Given the description of an element on the screen output the (x, y) to click on. 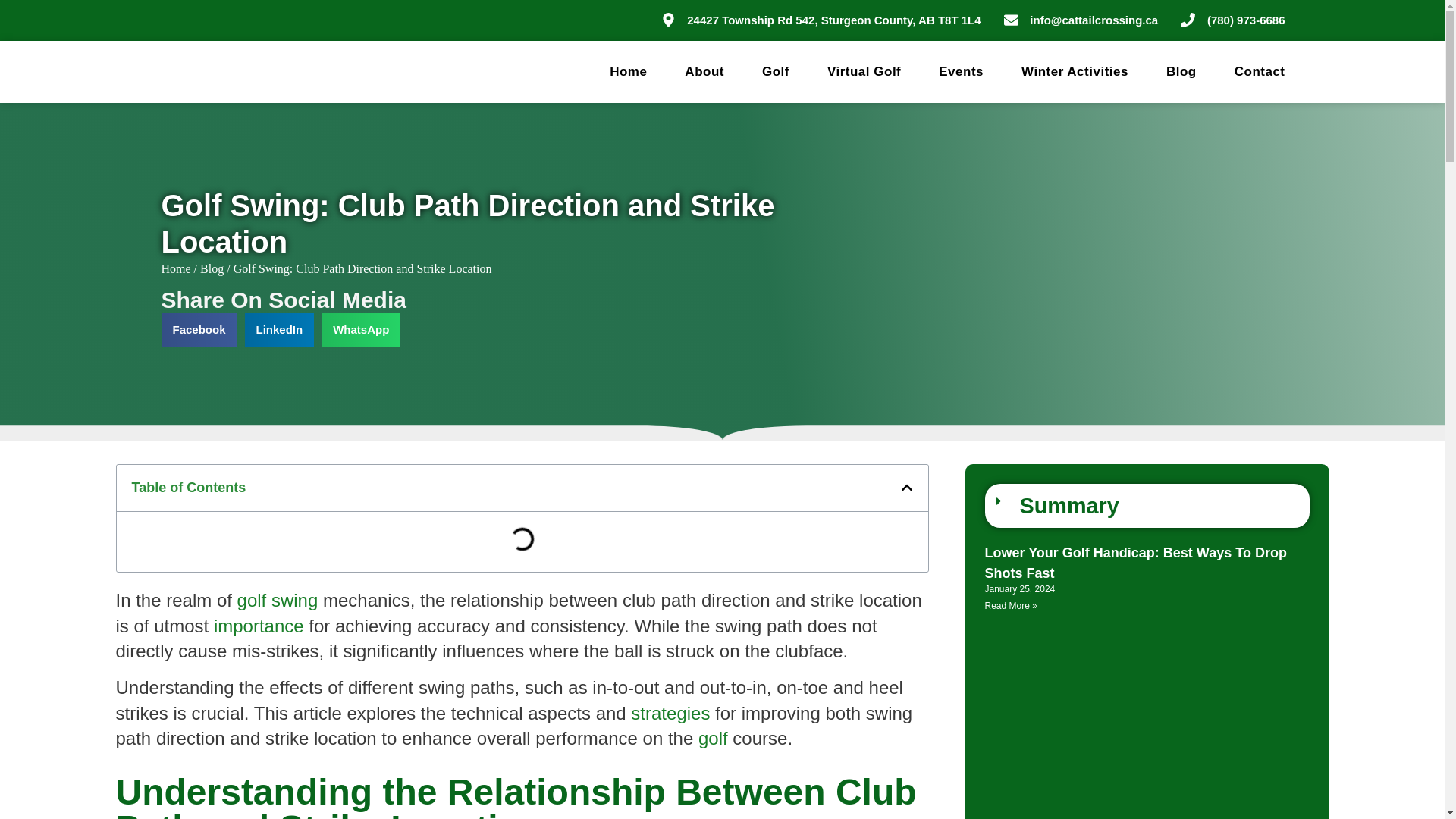
Virtual Golf (864, 71)
About (703, 71)
Home (628, 71)
Events (961, 71)
Winter Activities (1075, 71)
24427 Township Rd 542, Sturgeon County, AB T8T 1L4 (821, 20)
Blog (1181, 71)
Contact (1259, 71)
Golf (775, 71)
